Given the description of an element on the screen output the (x, y) to click on. 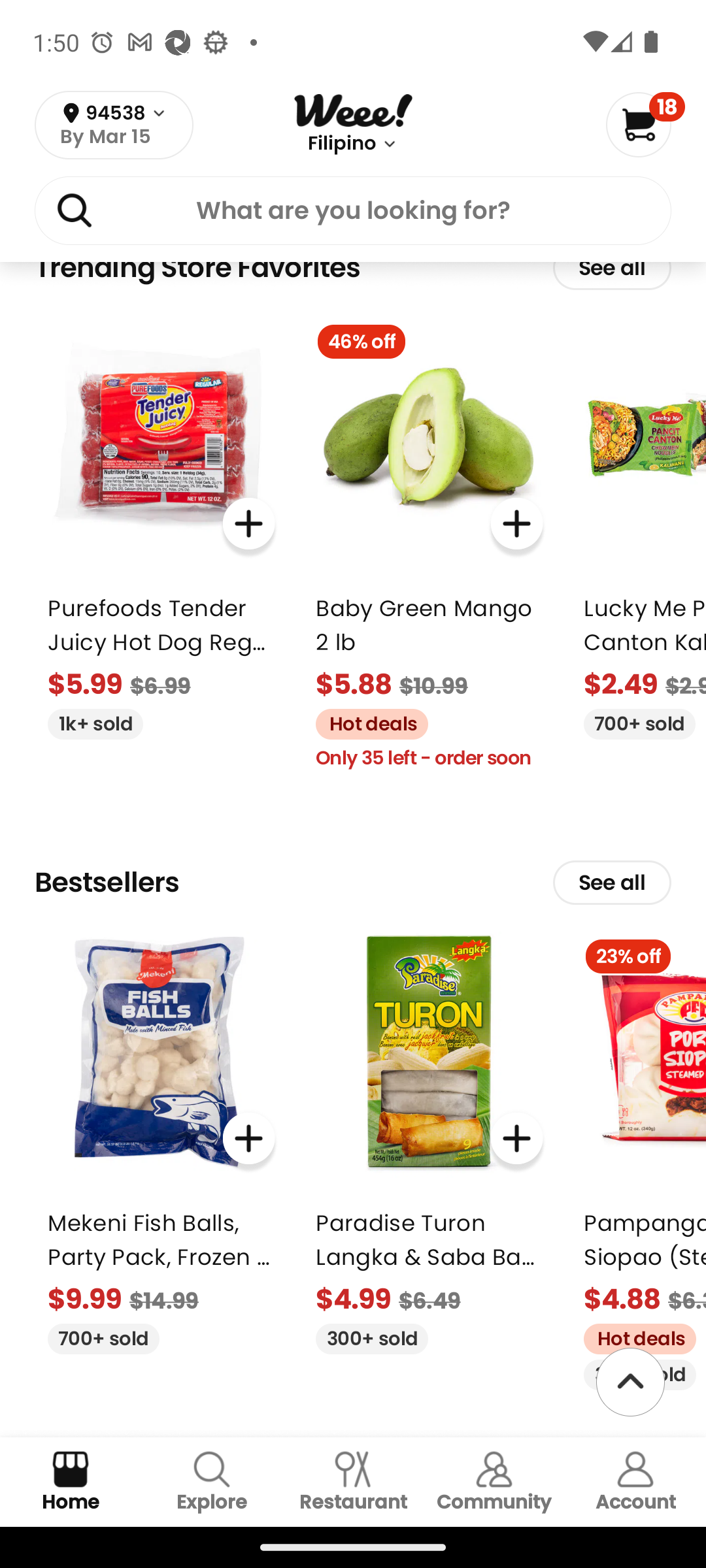
94538 By Mar 15 (113, 124)
18 (644, 124)
Filipino (341, 143)
What are you looking for? (353, 213)
What are you looking for? (352, 209)
Hot deals (364, 722)
Hot deals (632, 1336)
Home (70, 1482)
Explore (211, 1482)
Restaurant (352, 1482)
Community (493, 1482)
Account (635, 1482)
